Given the description of an element on the screen output the (x, y) to click on. 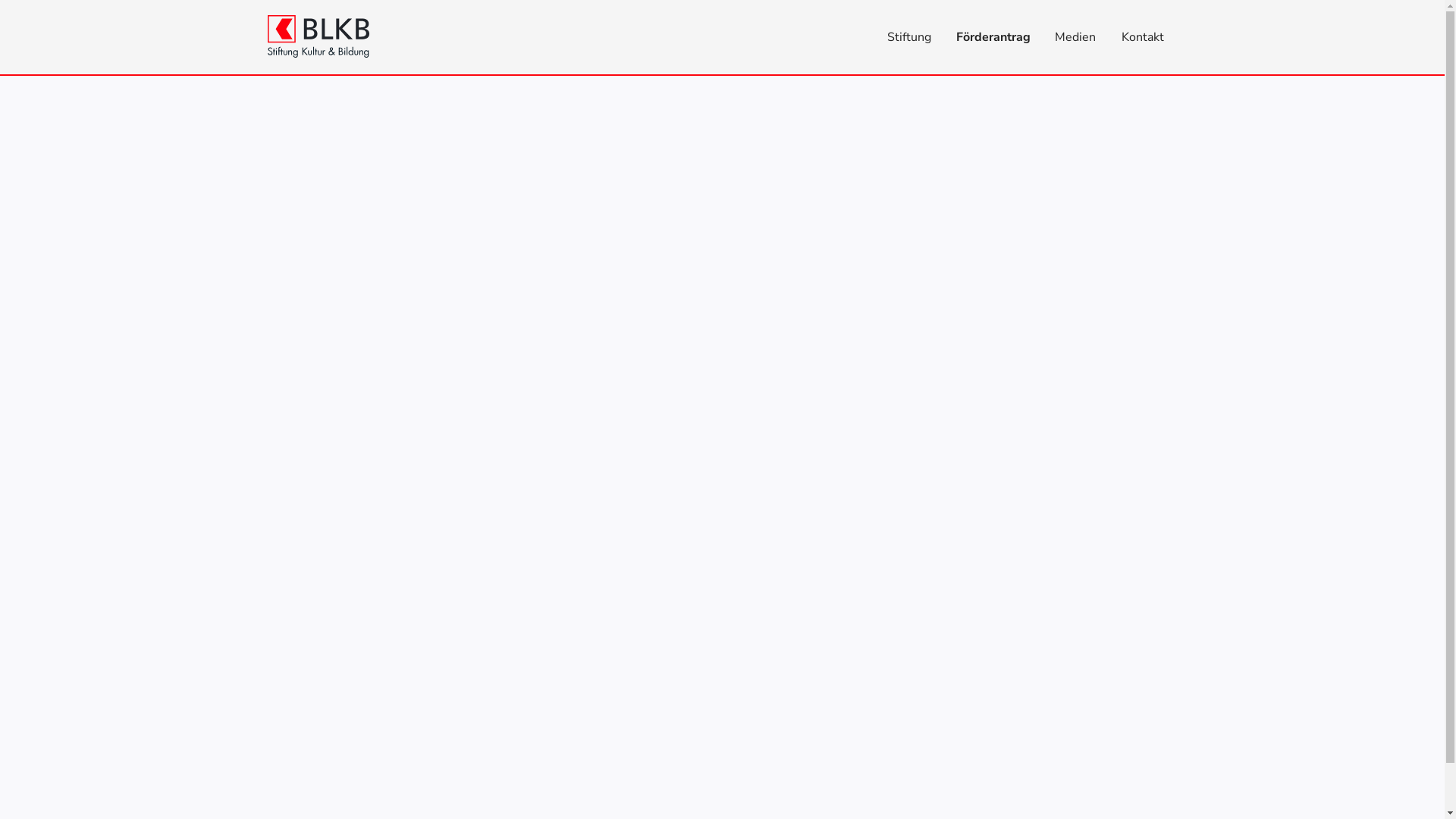
Kontakt Element type: text (1142, 36)
Stiftung Element type: text (908, 36)
Medien Element type: text (1074, 35)
Stiftung Element type: text (908, 35)
Kontakt Element type: text (1142, 35)
Medien Element type: text (1074, 36)
